Given the description of an element on the screen output the (x, y) to click on. 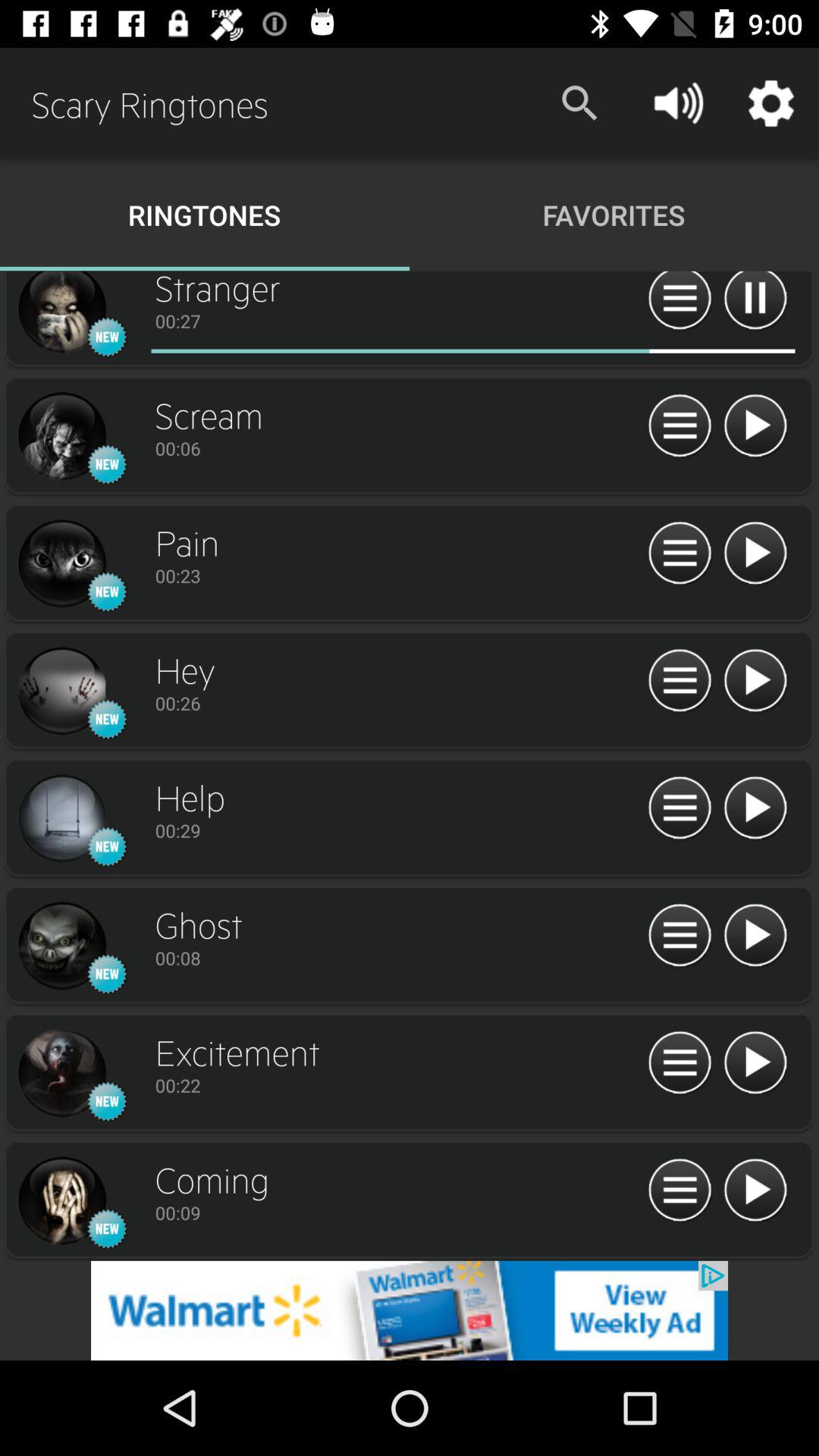
the play button (755, 1190)
